Given the description of an element on the screen output the (x, y) to click on. 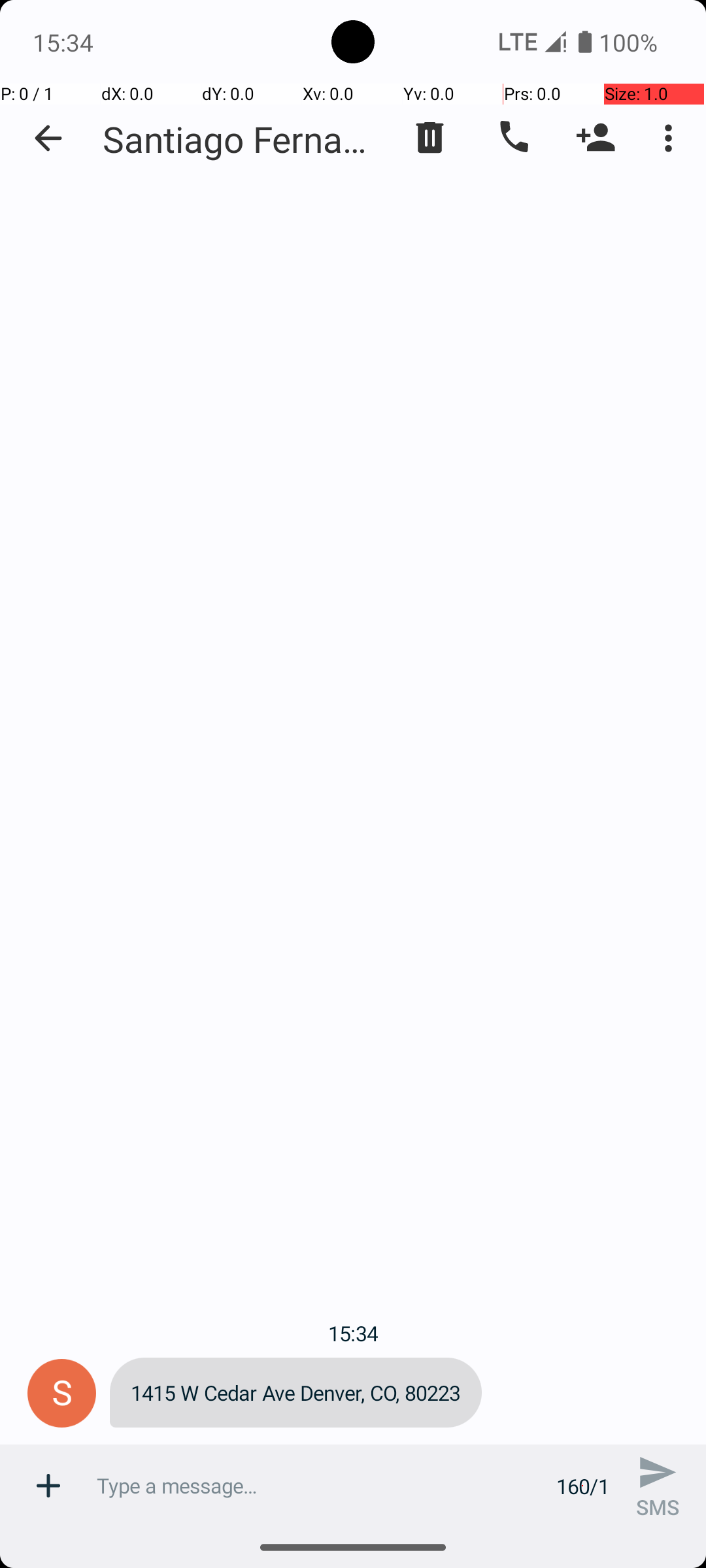
Santiago Fernandez Element type: android.widget.TextView (241, 138)
1415 W Cedar Ave Denver, CO, 80223 Element type: android.widget.TextView (295, 1392)
